Given the description of an element on the screen output the (x, y) to click on. 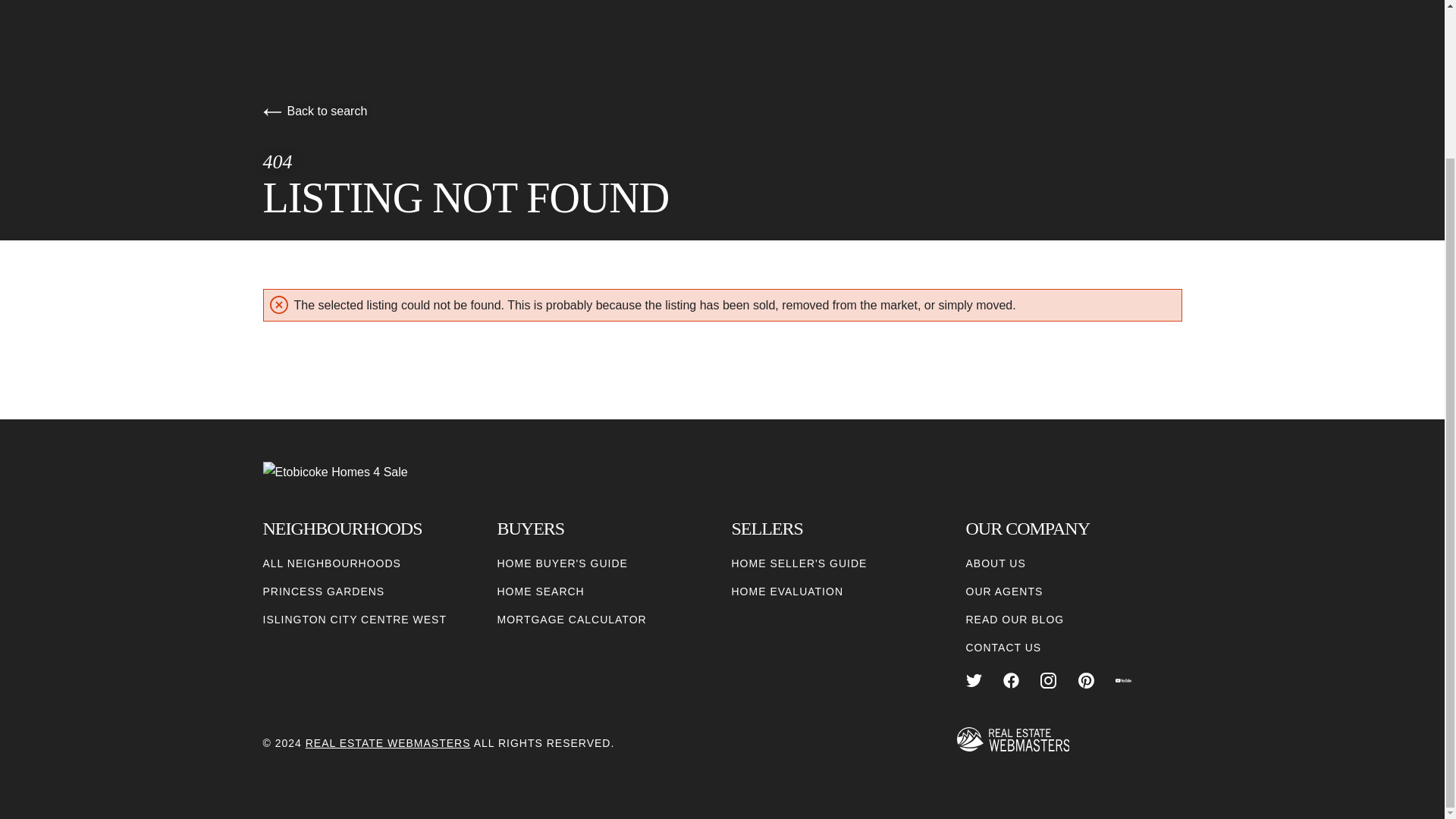
YOUTUBE ICON (1123, 680)
PINTEREST ICON (1086, 680)
TWITTER (973, 680)
FACEBOOK (1011, 680)
